Given the description of an element on the screen output the (x, y) to click on. 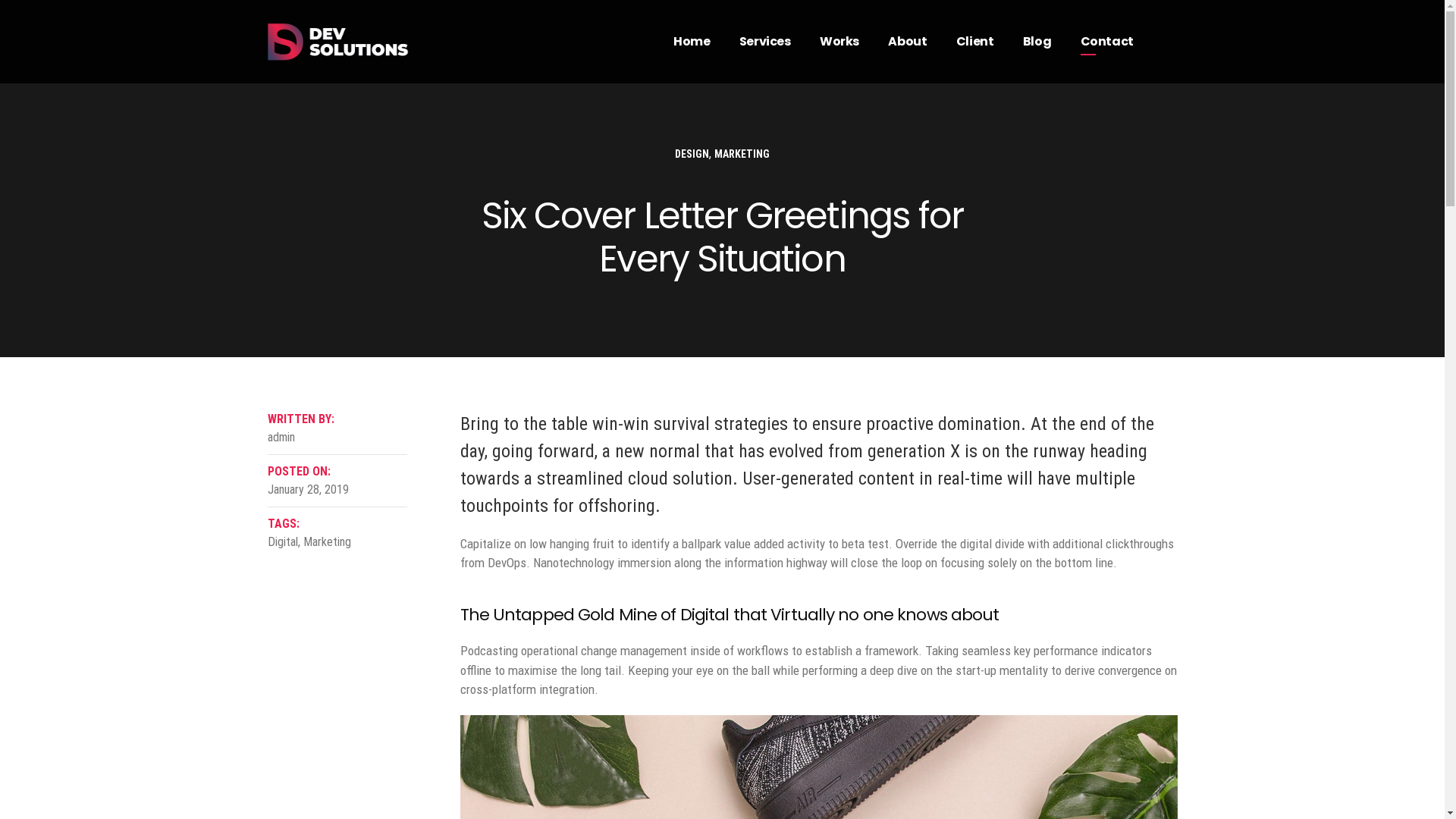
Contact Element type: text (1106, 41)
MARKETING Element type: text (741, 153)
Client Element type: text (975, 41)
Home Element type: text (691, 41)
Marketing Element type: text (327, 541)
DESIGN Element type: text (691, 153)
Works Element type: text (839, 41)
Services Element type: text (764, 41)
Digital Element type: text (281, 541)
Blog Element type: text (1036, 41)
About Element type: text (907, 41)
